Given the description of an element on the screen output the (x, y) to click on. 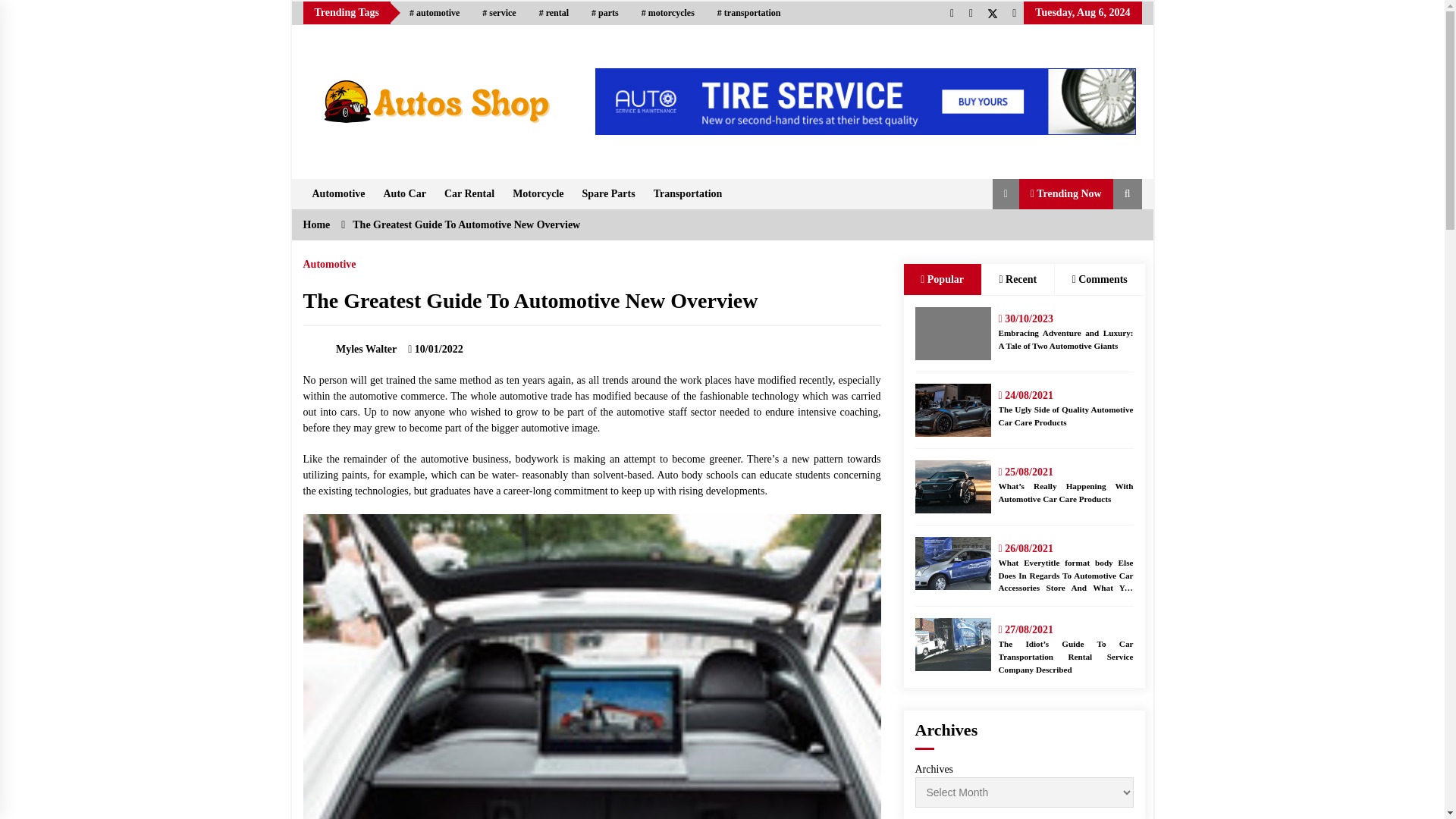
Transportation (688, 194)
motorcycles (668, 12)
parts (604, 12)
Auto Car (404, 194)
service (498, 12)
transportation (749, 12)
rental (553, 12)
Car Rental (469, 194)
Automotive (338, 194)
